Given the description of an element on the screen output the (x, y) to click on. 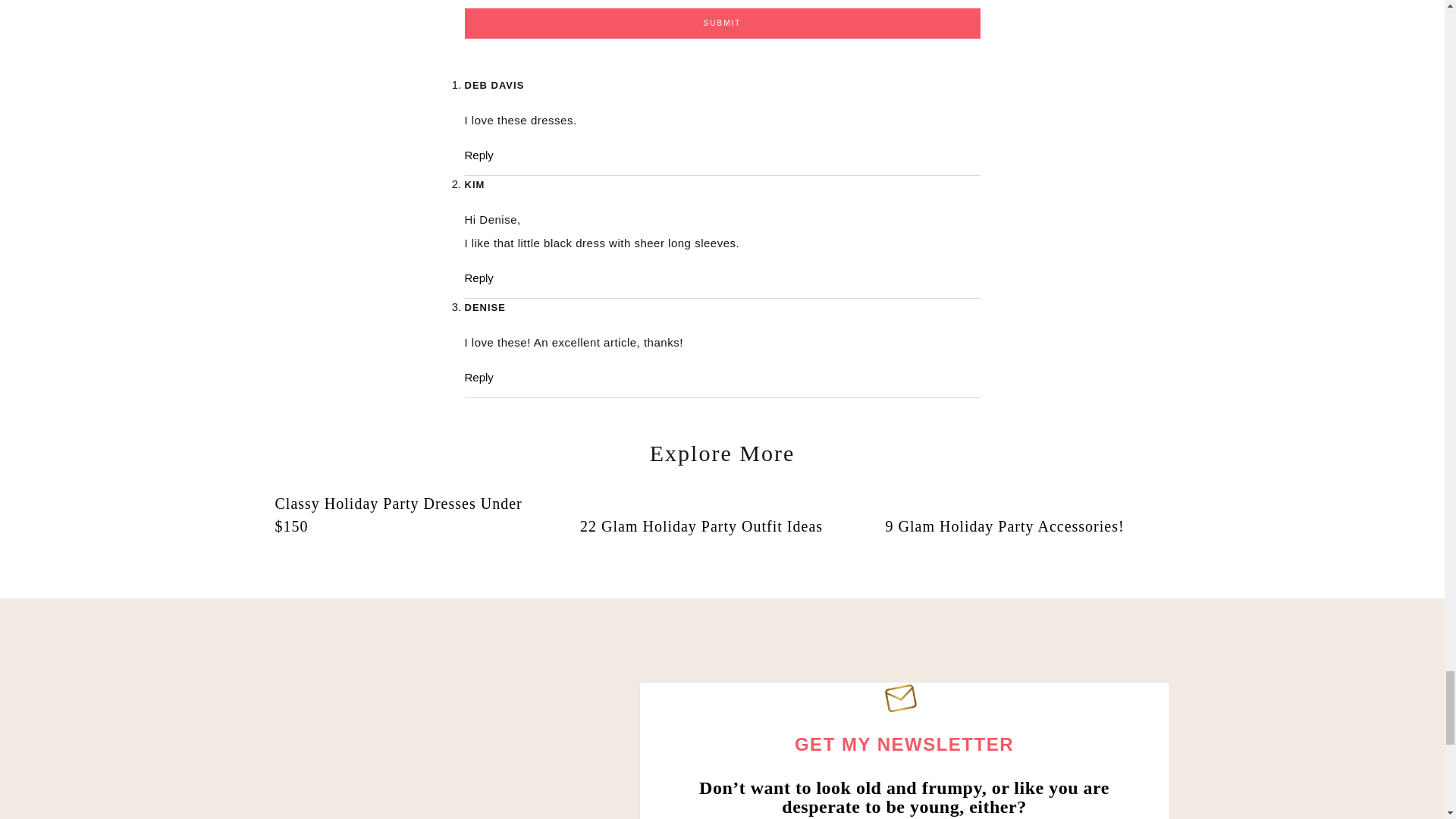
Submit (721, 23)
